Given the description of an element on the screen output the (x, y) to click on. 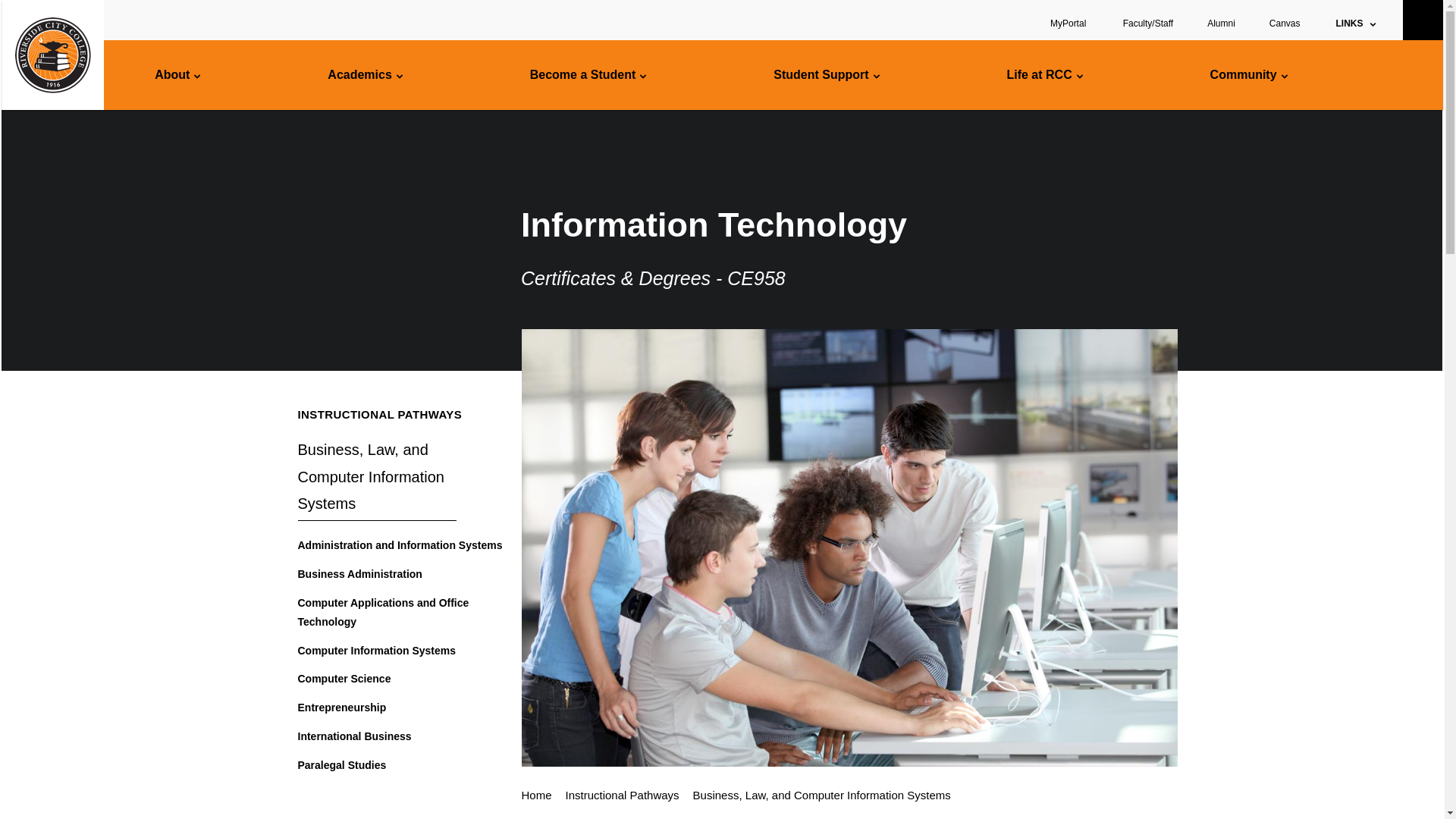
Academics (365, 74)
About (177, 74)
About (177, 74)
